Given the description of an element on the screen output the (x, y) to click on. 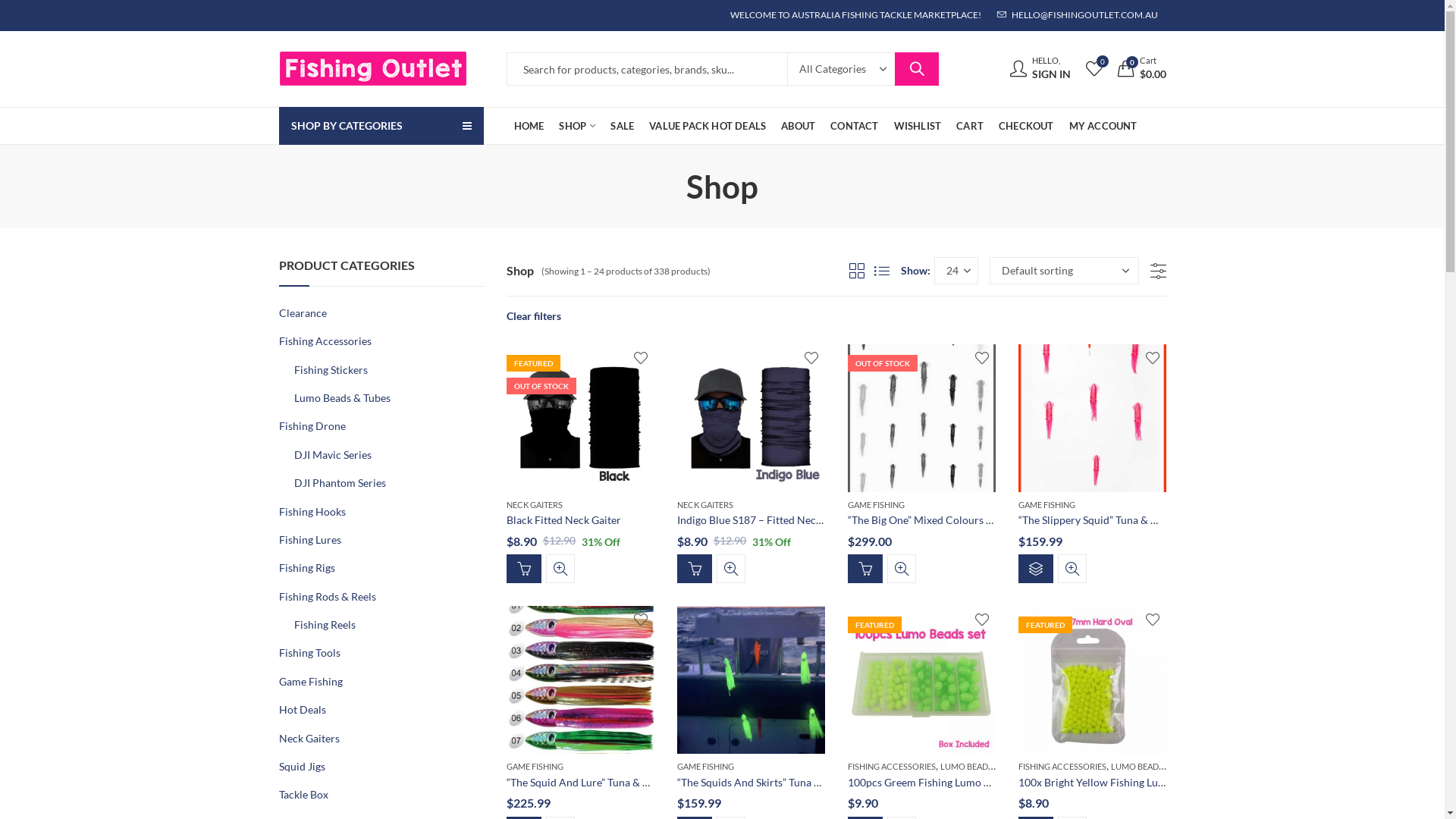
DJI Phantom Series Element type: text (339, 482)
Add to Wishlist Element type: text (811, 357)
Hot Deals Element type: text (302, 708)
Add to Wishlist Element type: text (811, 619)
READ MORE Element type: text (864, 568)
Fishing Stickers Element type: text (330, 369)
NECK GAITERS Element type: text (534, 504)
FISHING ACCESSORIES Element type: text (1061, 766)
Lumo Beads & Tubes Element type: text (342, 397)
Quick View Element type: text (560, 568)
GAME FISHING Element type: text (875, 504)
Quick View Element type: text (729, 568)
Squid Jigs Element type: text (302, 765)
Quick View Element type: text (901, 568)
Add to Wishlist Element type: text (639, 357)
Fishing Drone Element type: text (312, 425)
GAME FISHING Element type: text (1045, 504)
Quick View Element type: text (1071, 568)
FISHING ACCESSORIES Element type: text (891, 766)
DJI Mavic Series Element type: text (332, 454)
SEARCH Element type: text (916, 68)
VALUE PACK HOT DEALS Element type: text (707, 125)
Clearance Element type: text (302, 312)
READ MORE Element type: text (523, 568)
ABOUT Element type: text (797, 125)
Fishing Rigs Element type: text (307, 567)
SELECT OPTIONS Element type: text (1034, 568)
Add to Wishlist Element type: text (639, 619)
Grid View Element type: text (856, 270)
Neck Gaiters Element type: text (309, 737)
Fishing Reels Element type: text (324, 624)
MY ACCOUNT Element type: text (1103, 125)
Fishing Tools Element type: text (309, 652)
0
Cart
$0.00 Element type: text (1141, 69)
Fishing Hooks Element type: text (312, 511)
Clear filters Element type: text (533, 315)
Add to Wishlist Element type: text (1152, 357)
GAME FISHING Element type: text (534, 766)
100x Bright Yellow Fishing Lumo Beads 5mm x 7mm Hard Element type: text (1153, 781)
HOME Element type: text (529, 125)
ADD TO CART Element type: text (693, 568)
SALE Element type: text (621, 125)
Add to Wishlist Element type: text (1152, 619)
NECK GAITERS Element type: text (704, 504)
SHOP Element type: text (576, 125)
Add to Wishlist Element type: text (980, 619)
0 Element type: text (1093, 67)
Fishing Accessories Element type: text (325, 340)
CART Element type: text (969, 125)
CONTACT Element type: text (853, 125)
WISHLIST Element type: text (917, 125)
Game Fishing Element type: text (310, 680)
HELLO,
SIGN IN Element type: text (1040, 69)
CHECKOUT Element type: text (1026, 125)
LUMO BEADS & TUBES Element type: text (1153, 765)
Fishing Rods & Reels Element type: text (327, 595)
Black Fitted Neck Gaiter Element type: text (563, 519)
List View Element type: text (880, 270)
Add to Wishlist Element type: text (980, 357)
Tackle Box Element type: text (303, 793)
GAME FISHING Element type: text (704, 766)
Fishing Lures Element type: text (310, 539)
LUMO BEADS & TUBES Element type: text (983, 765)
